Given the description of an element on the screen output the (x, y) to click on. 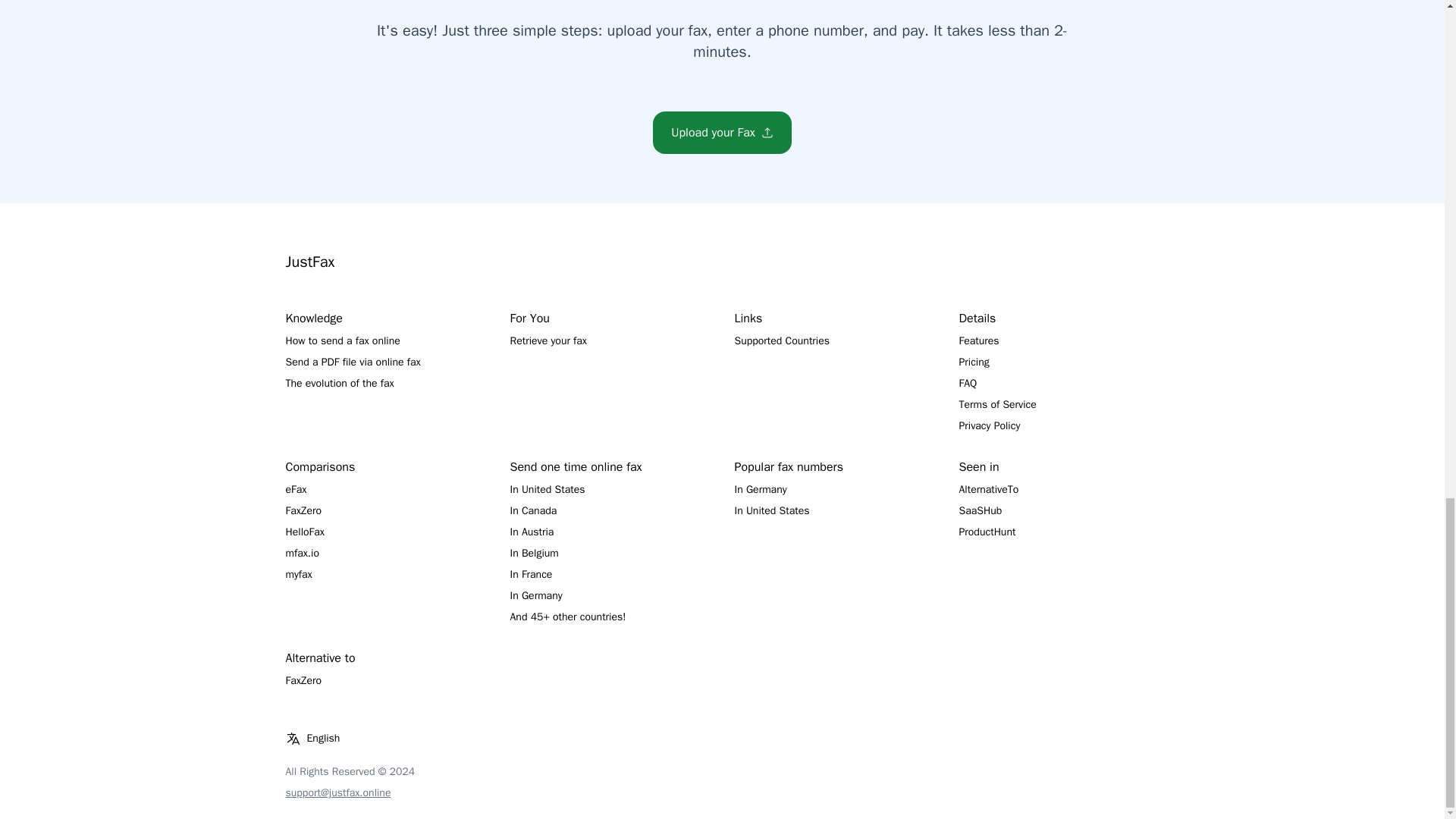
Retrieve your fax (547, 340)
Terms of Service (996, 404)
Send a PDF file via online fax (352, 361)
myfax (298, 574)
JustFax (309, 261)
How to send a fax online (341, 340)
mfax.io (301, 553)
Supported Countries (781, 340)
ProductHunt (986, 531)
Features (978, 340)
